Given the description of an element on the screen output the (x, y) to click on. 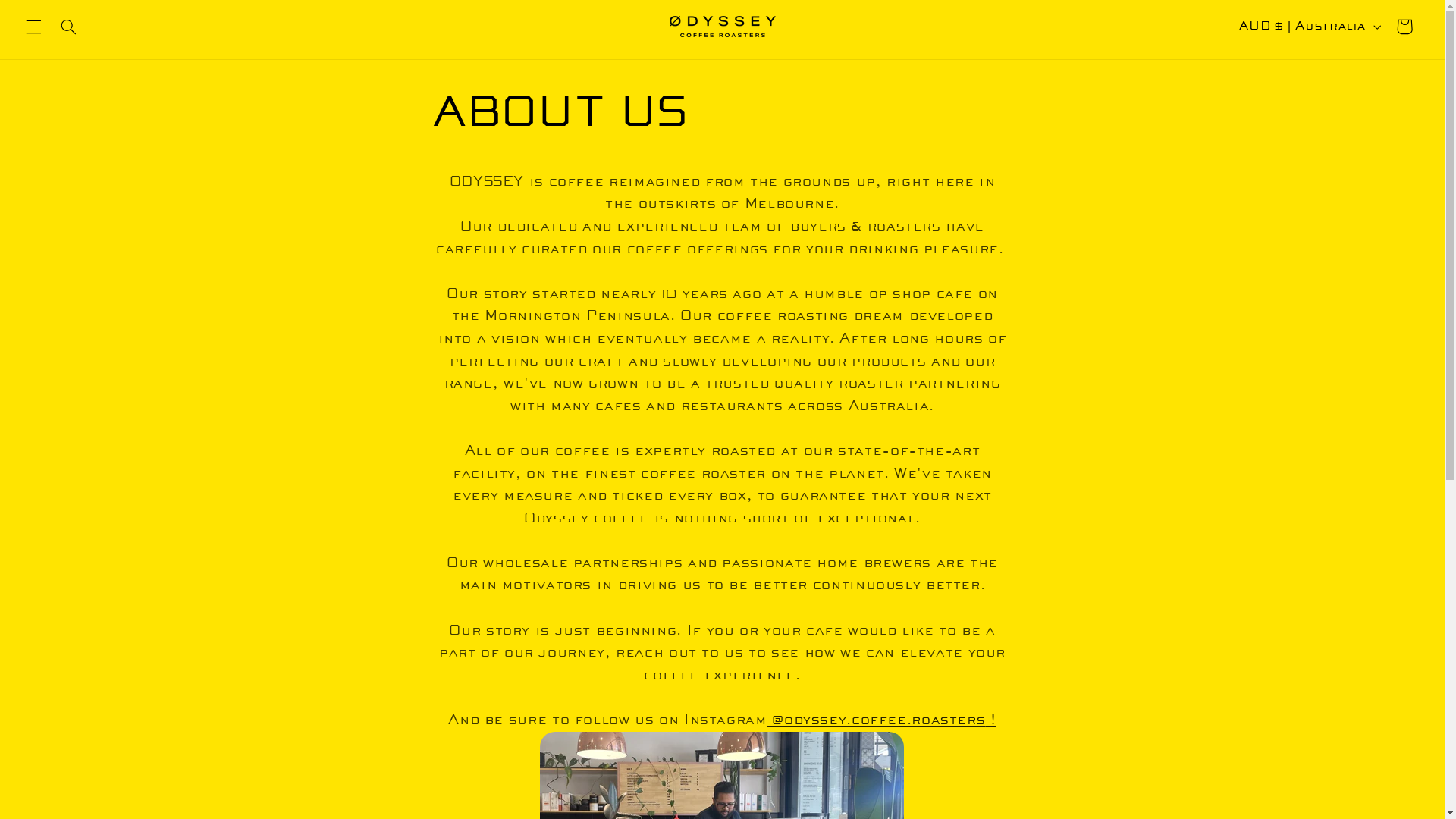
@odyssey.coffee.roasters Element type: text (876, 719)
Cart Element type: text (1403, 26)
AUD $ | Australia Element type: text (1308, 26)
 ! Element type: text (990, 719)
